Given the description of an element on the screen output the (x, y) to click on. 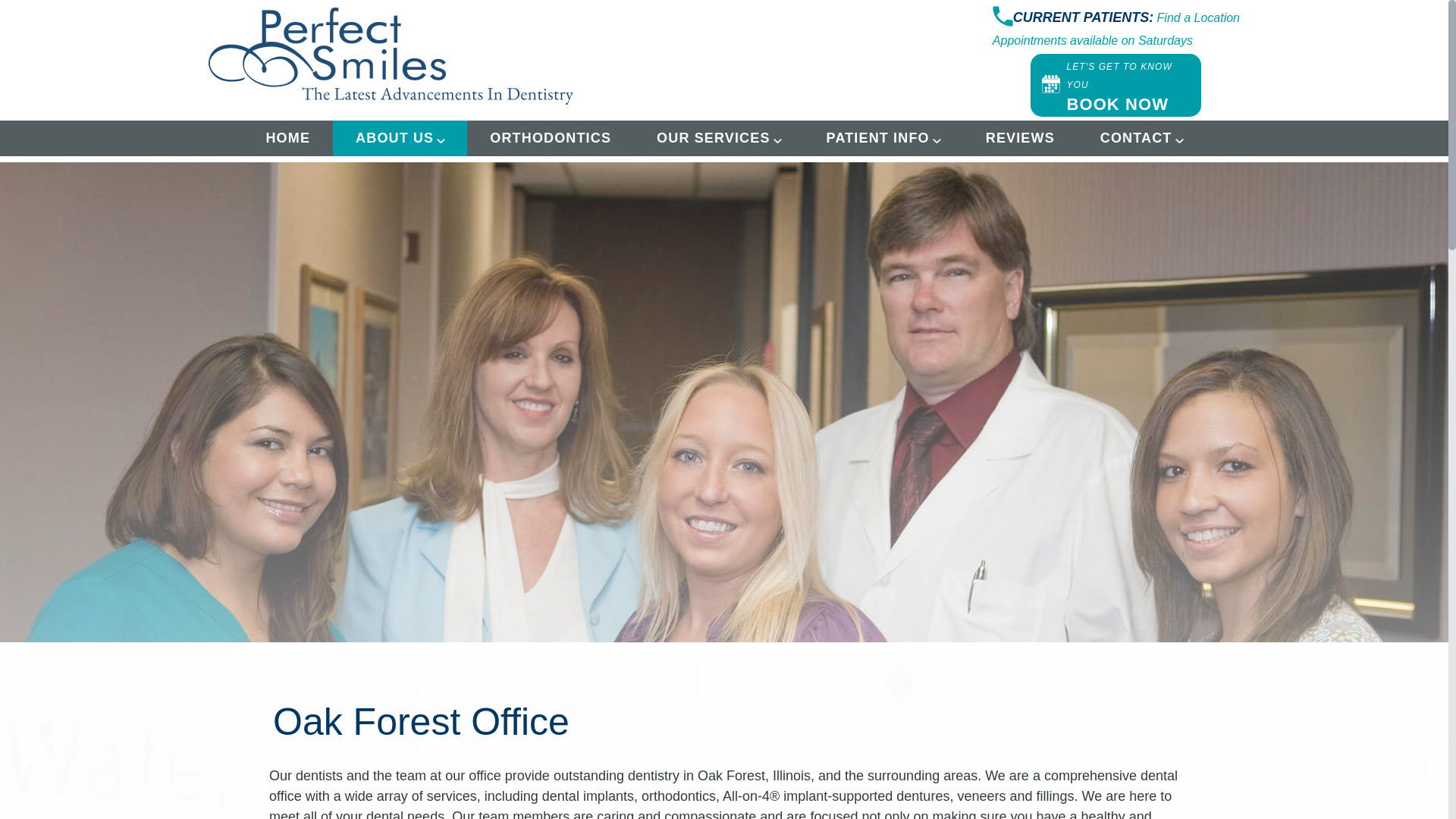
CURRENT PATIENTS: Find a Location (1126, 19)
